Given the description of an element on the screen output the (x, y) to click on. 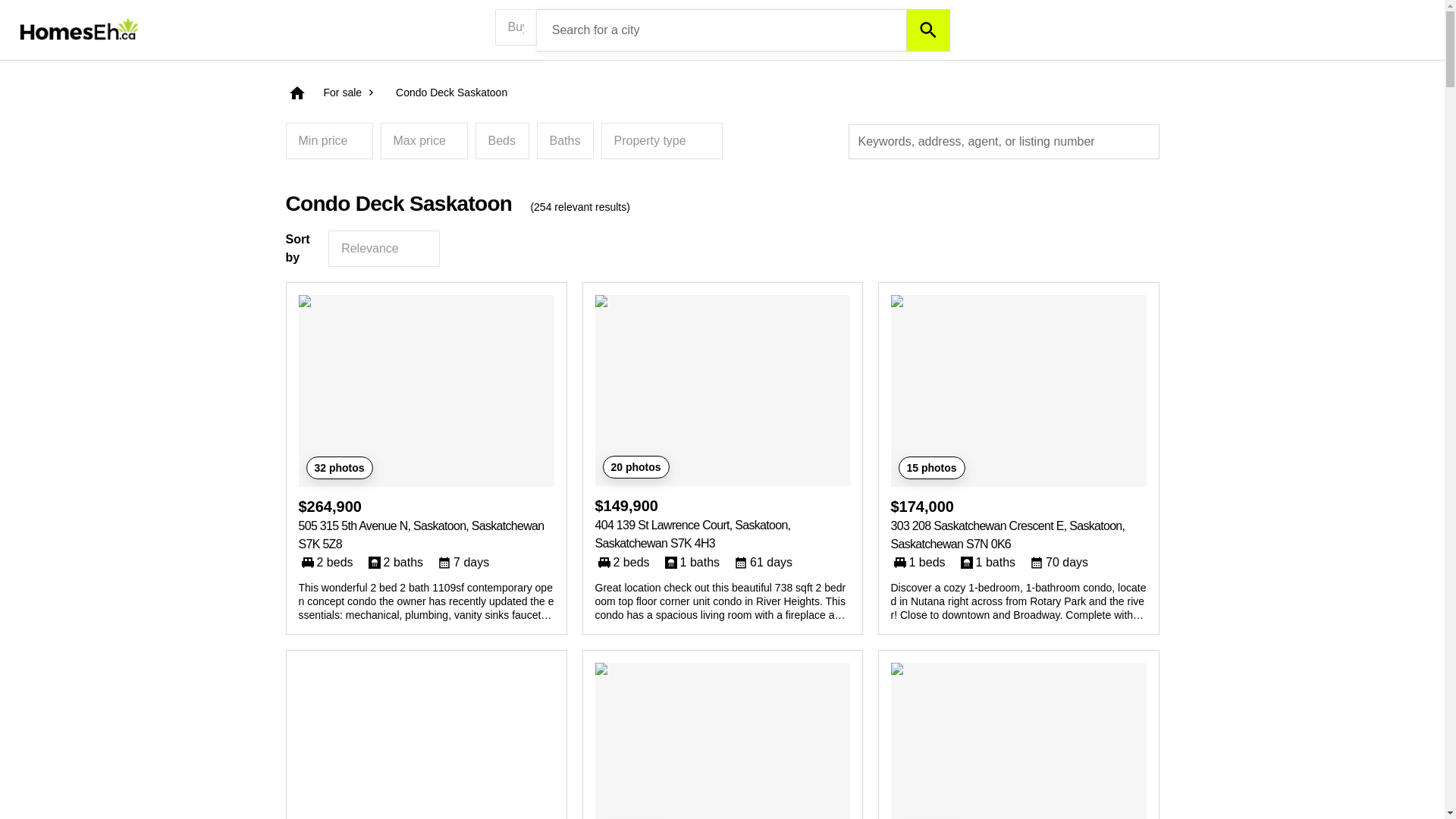
Advertisement (426, 740)
